Given the description of an element on the screen output the (x, y) to click on. 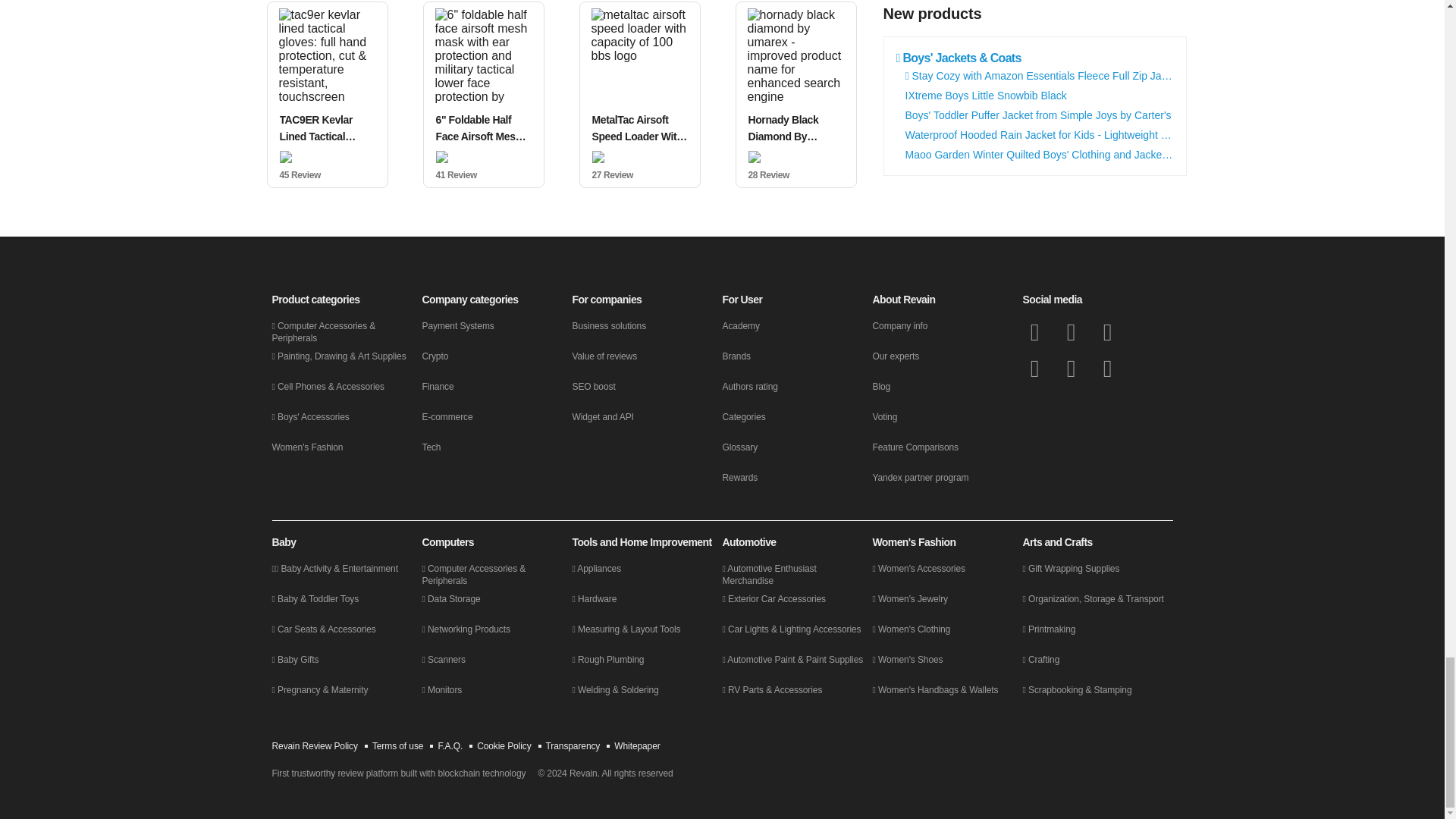
Revain Twitter (1070, 331)
Revain Facebook (1034, 331)
Revain Telegram group (1106, 331)
Revain Telegram channel (1034, 368)
